Given the description of an element on the screen output the (x, y) to click on. 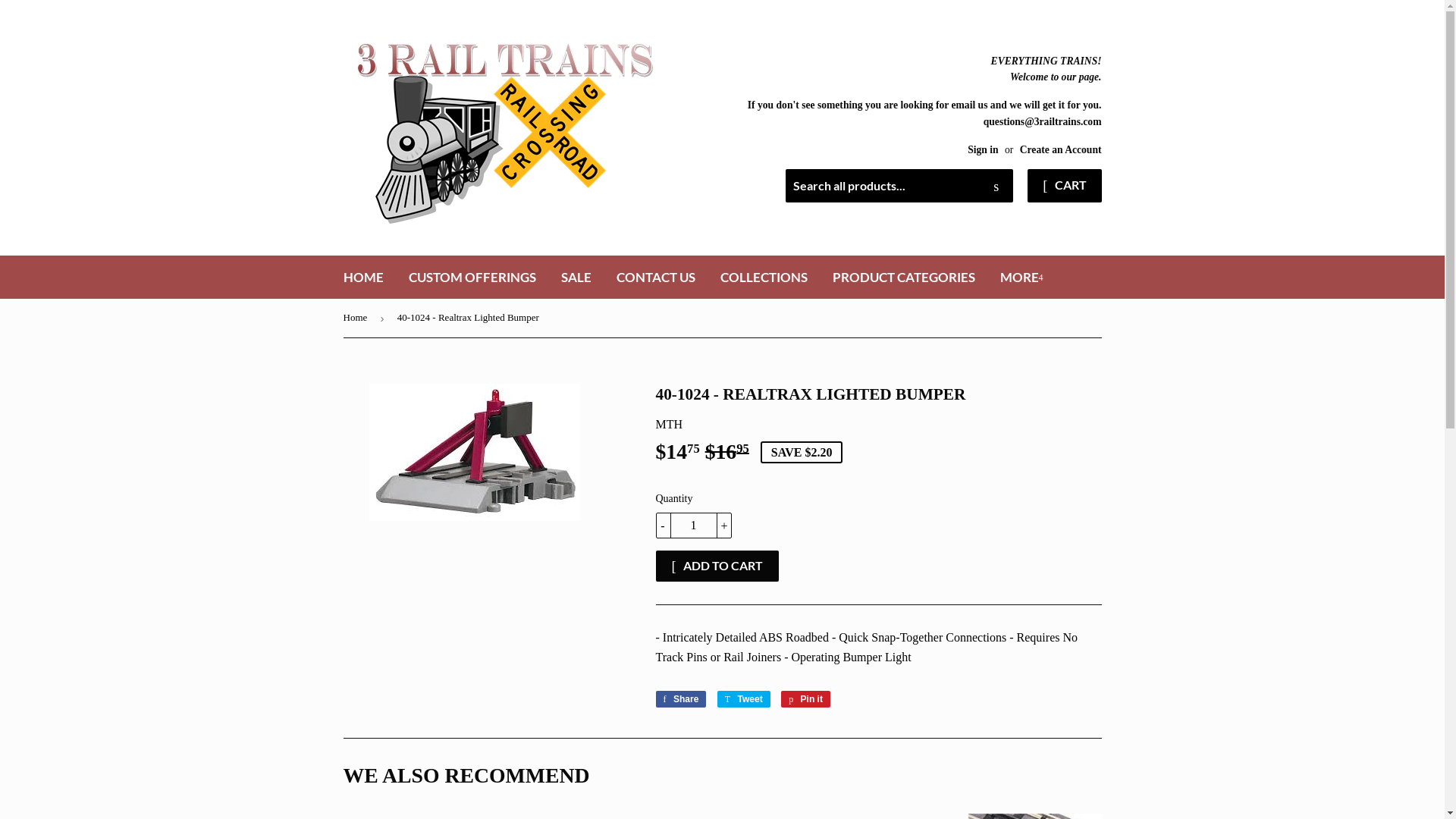
COLLECTIONS Element type: text (763, 276)
Sign in Element type: text (982, 149)
CUSTOM OFFERINGS Element type: text (472, 276)
CONTACT US Element type: text (655, 276)
Tweet
Tweet on Twitter Element type: text (743, 698)
PRODUCT CATEGORIES Element type: text (902, 276)
Home Element type: text (357, 317)
Search Element type: text (996, 186)
SALE Element type: text (575, 276)
Pin it
Pin on Pinterest Element type: text (805, 698)
MORE Element type: text (1021, 276)
Create an Account Element type: text (1060, 149)
CART Element type: text (1064, 185)
ADD TO CART Element type: text (716, 565)
HOME Element type: text (363, 276)
Share
Share on Facebook Element type: text (680, 698)
